Given the description of an element on the screen output the (x, y) to click on. 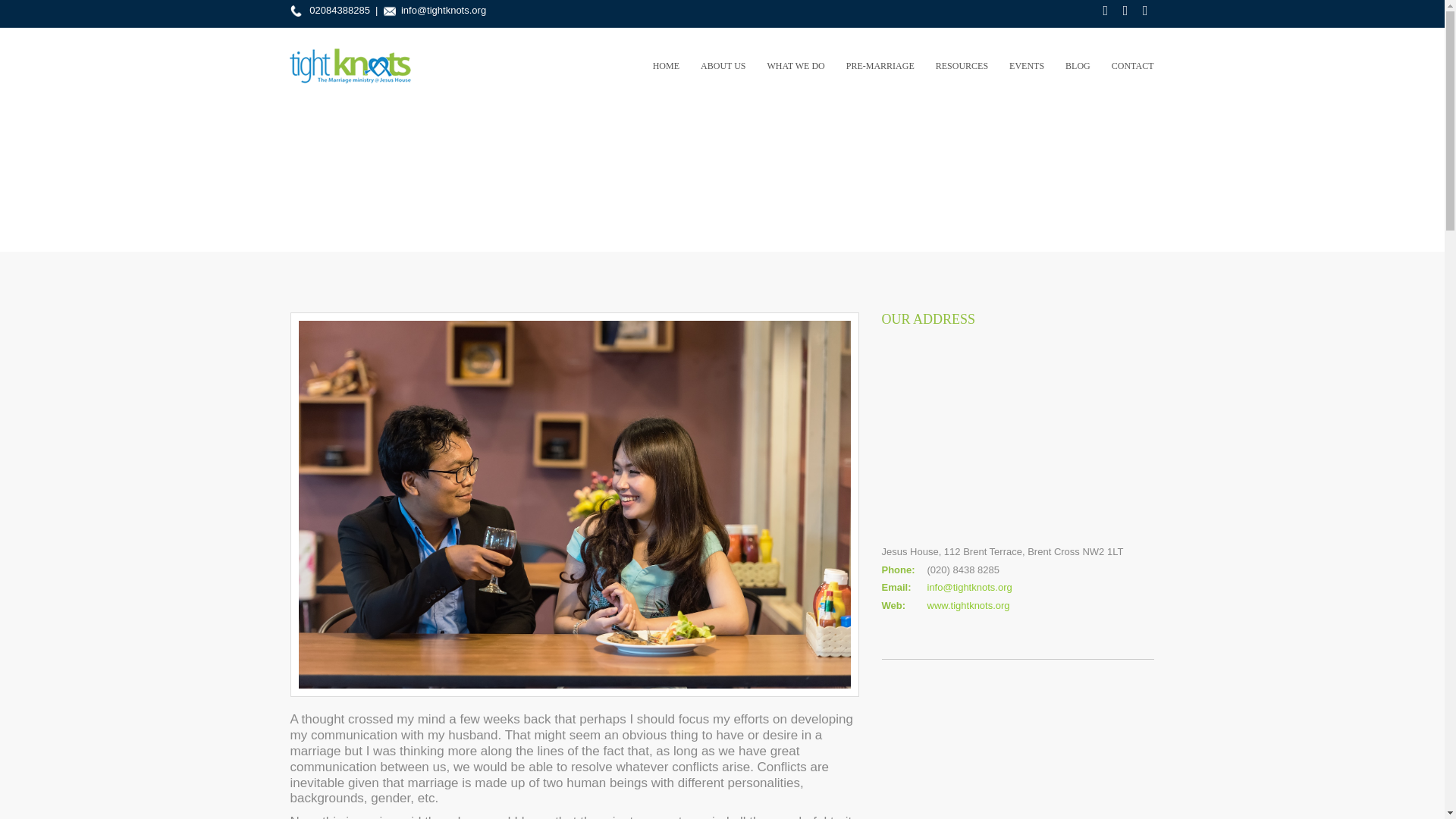
WHAT WE DO (796, 64)
EVENTS (1026, 64)
PRE-MARRIAGE (879, 64)
HOME (666, 64)
ABOUT US (722, 64)
RESOURCES (961, 64)
BLOG (1077, 64)
